Given the description of an element on the screen output the (x, y) to click on. 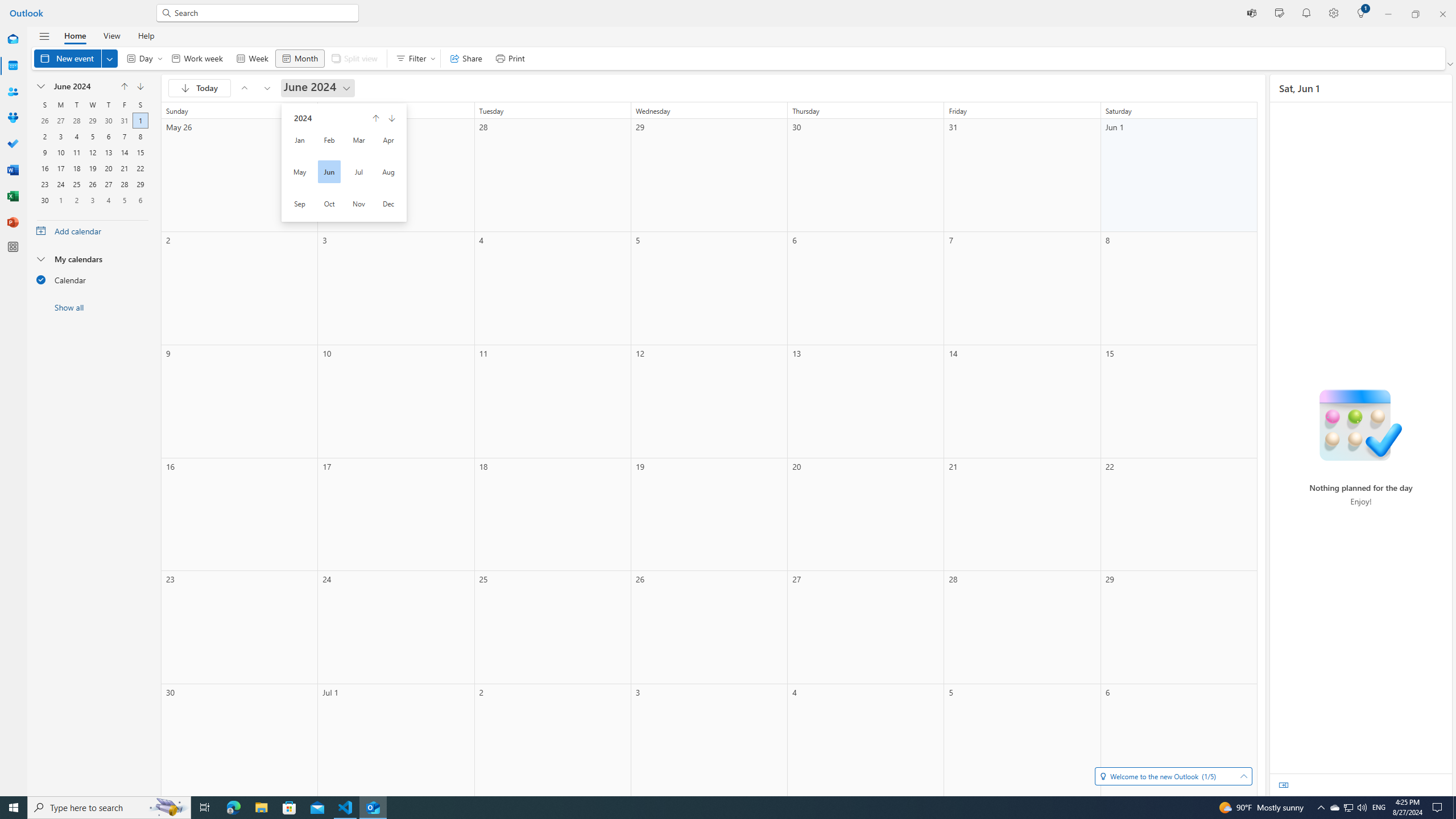
View (111, 35)
5, June, 2024 (92, 135)
31, May, 2024 (124, 119)
Show all (92, 306)
People (12, 92)
9, June, 2024 (44, 151)
26, June, 2024 (92, 183)
PowerPoint (12, 222)
14, June, 2024 (124, 151)
5, July, 2024 (124, 199)
18, June, 2024 (76, 167)
12, June, 2024 (92, 151)
New event (75, 58)
27, May, 2024 (59, 119)
